Given the description of an element on the screen output the (x, y) to click on. 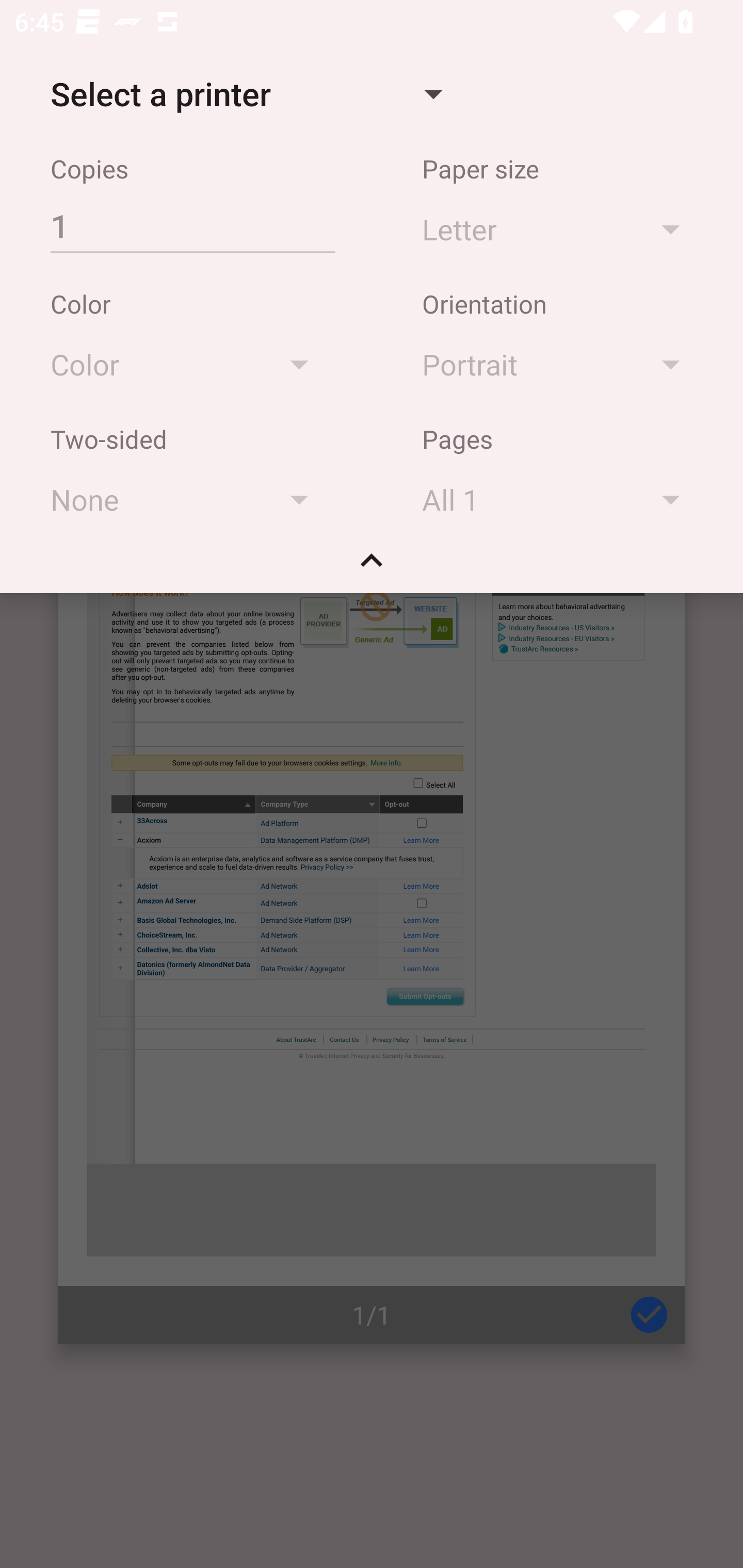
Select a printer (245, 93)
1 (192, 225)
Letter (560, 228)
Color (189, 364)
Portrait (560, 364)
None (189, 499)
All 1 (560, 499)
Collapse handle (371, 567)
